Given the description of an element on the screen output the (x, y) to click on. 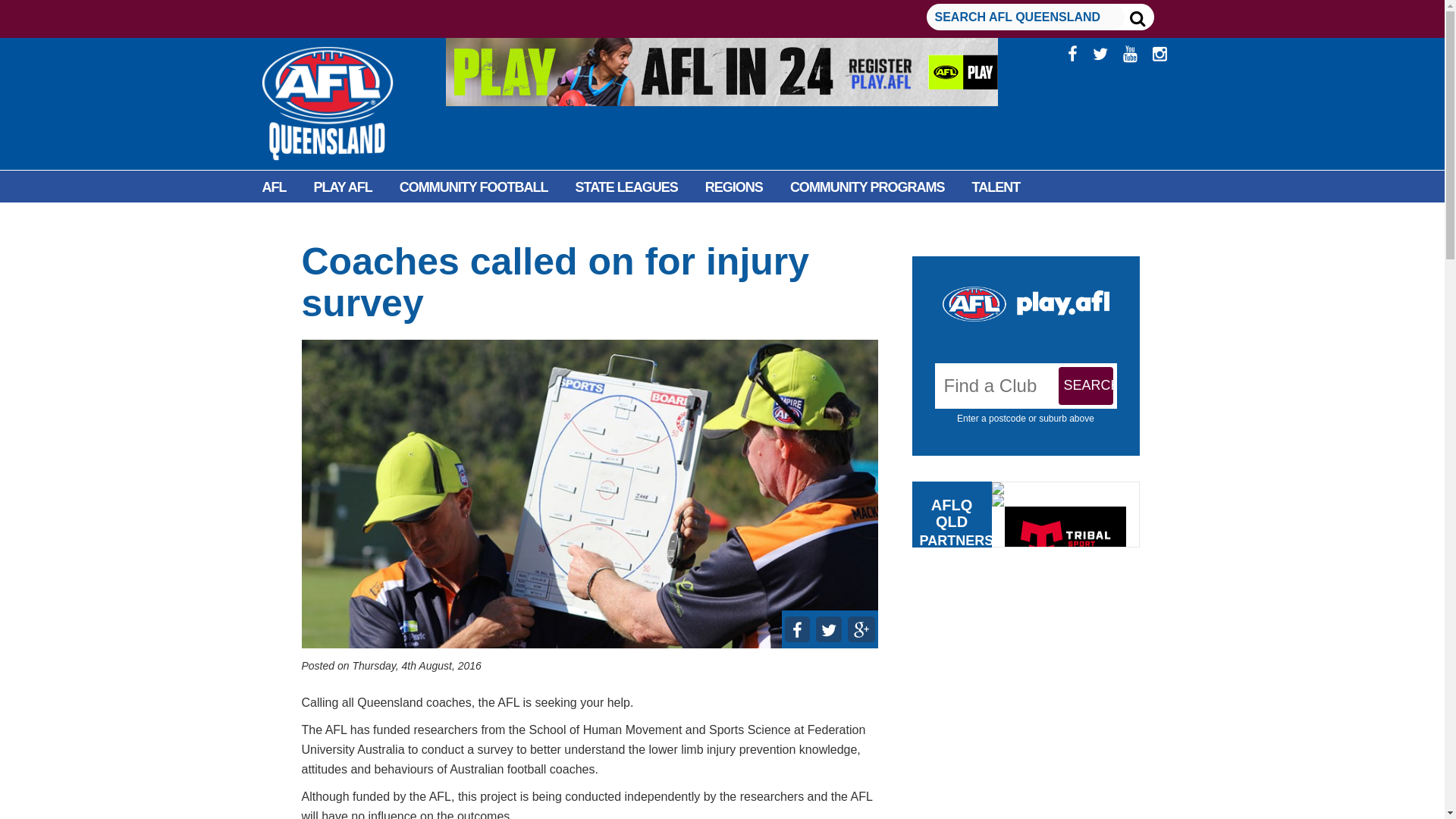
STATE LEAGUES (626, 187)
Search (1085, 385)
INFORMATION HUB (414, 221)
REGIONS (733, 187)
PLAY AFL (342, 187)
Search (1085, 385)
COMMUNITY FOOTBALL (473, 187)
AFL (273, 187)
FACILITIES (295, 221)
TALENT (995, 187)
